Given the description of an element on the screen output the (x, y) to click on. 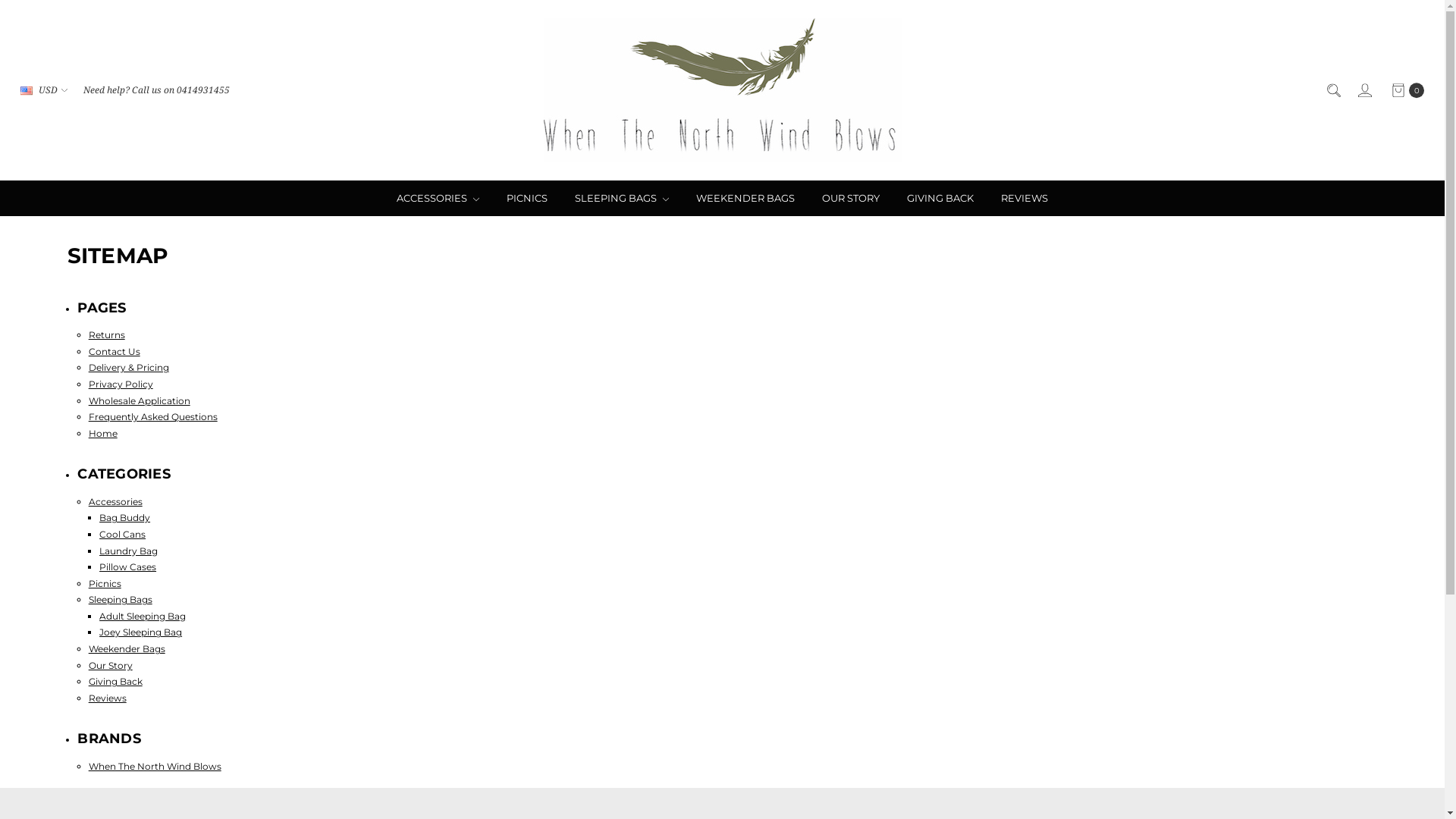
Joey Sleeping Bag Element type: text (140, 631)
Privacy Policy Element type: text (120, 383)
Laundry Bag Element type: text (128, 549)
Giving Back Element type: text (115, 681)
GIVING BACK Element type: text (940, 198)
SLEEPING BAGS Element type: text (621, 198)
Contact Us Element type: text (114, 351)
Accessories Element type: text (115, 501)
PICNICS Element type: text (526, 198)
Home Element type: text (102, 433)
Sleeping Bags Element type: text (120, 599)
When The North Wind Blows Element type: hover (721, 90)
Returns Element type: text (106, 334)
0 Element type: text (1406, 89)
ACCESSORIES Element type: text (437, 198)
Need help? Call us on 0414931455 Element type: text (156, 89)
WEEKENDER BAGS Element type: text (745, 198)
When The North Wind Blows Element type: text (154, 765)
Reviews Element type: text (107, 697)
Cool Cans Element type: text (122, 533)
Our Story Element type: text (110, 665)
Picnics Element type: text (104, 583)
Pillow Cases Element type: text (127, 566)
REVIEWS Element type: text (1024, 198)
Weekender Bags Element type: text (126, 648)
Delivery & Pricing Element type: text (128, 367)
OUR STORY Element type: text (850, 198)
Frequently Asked Questions Element type: text (152, 416)
Wholesale Application Element type: text (139, 400)
Bag Buddy Element type: text (124, 517)
USD Element type: text (43, 89)
Adult Sleeping Bag Element type: text (142, 615)
